Given the description of an element on the screen output the (x, y) to click on. 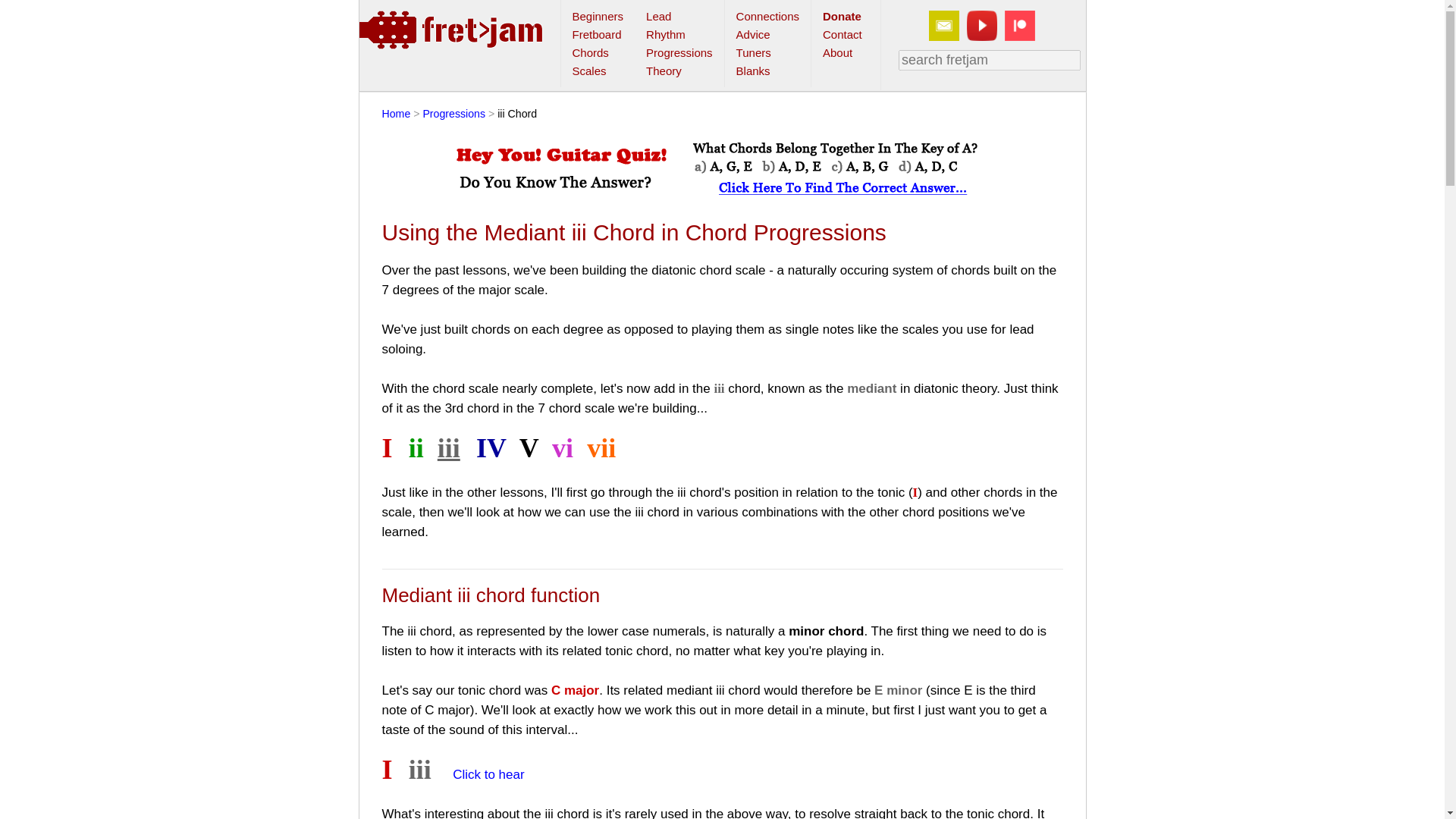
Tuners (753, 51)
Beginners (597, 15)
Chords (590, 51)
Rhythm (665, 33)
Advice (753, 33)
Blanks (753, 70)
Theory (663, 70)
About (836, 51)
click for the answer (721, 170)
Click to hear (488, 774)
